Given the description of an element on the screen output the (x, y) to click on. 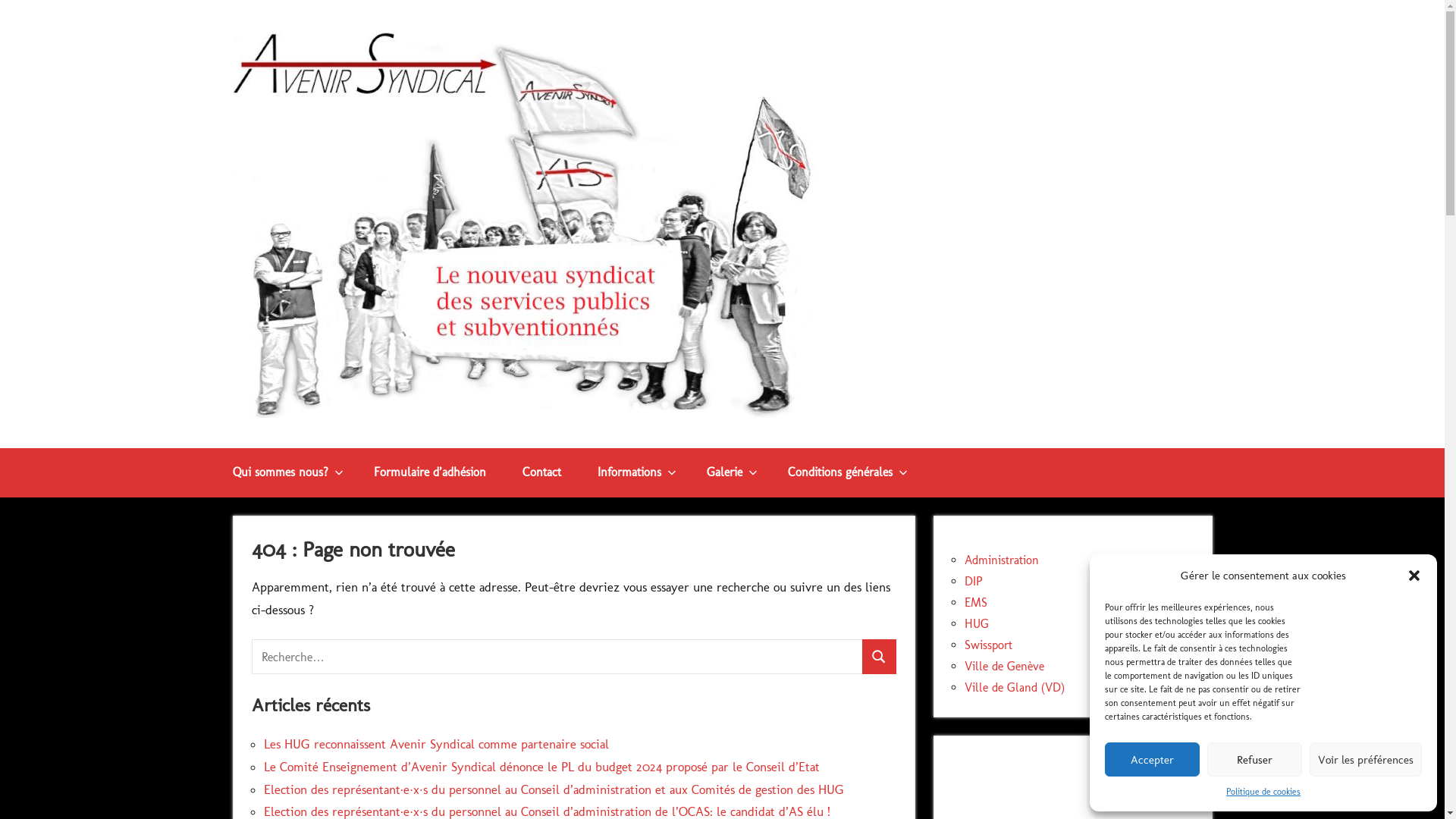
HUG Element type: text (976, 623)
Politique de cookies Element type: text (1263, 792)
Qui sommes nous? Element type: text (283, 472)
Refuser Element type: text (1254, 759)
DIP Element type: text (973, 581)
Recherche Element type: text (879, 656)
Contact Element type: text (540, 472)
EMS Element type: text (975, 602)
Administration Element type: text (1001, 559)
Swissport Element type: text (988, 644)
Galerie Element type: text (728, 472)
Accepter Element type: text (1151, 759)
Ville de Gland (VD) Element type: text (1014, 687)
Recherche pour : Element type: hover (556, 656)
Informations Element type: text (633, 472)
